Given the description of an element on the screen output the (x, y) to click on. 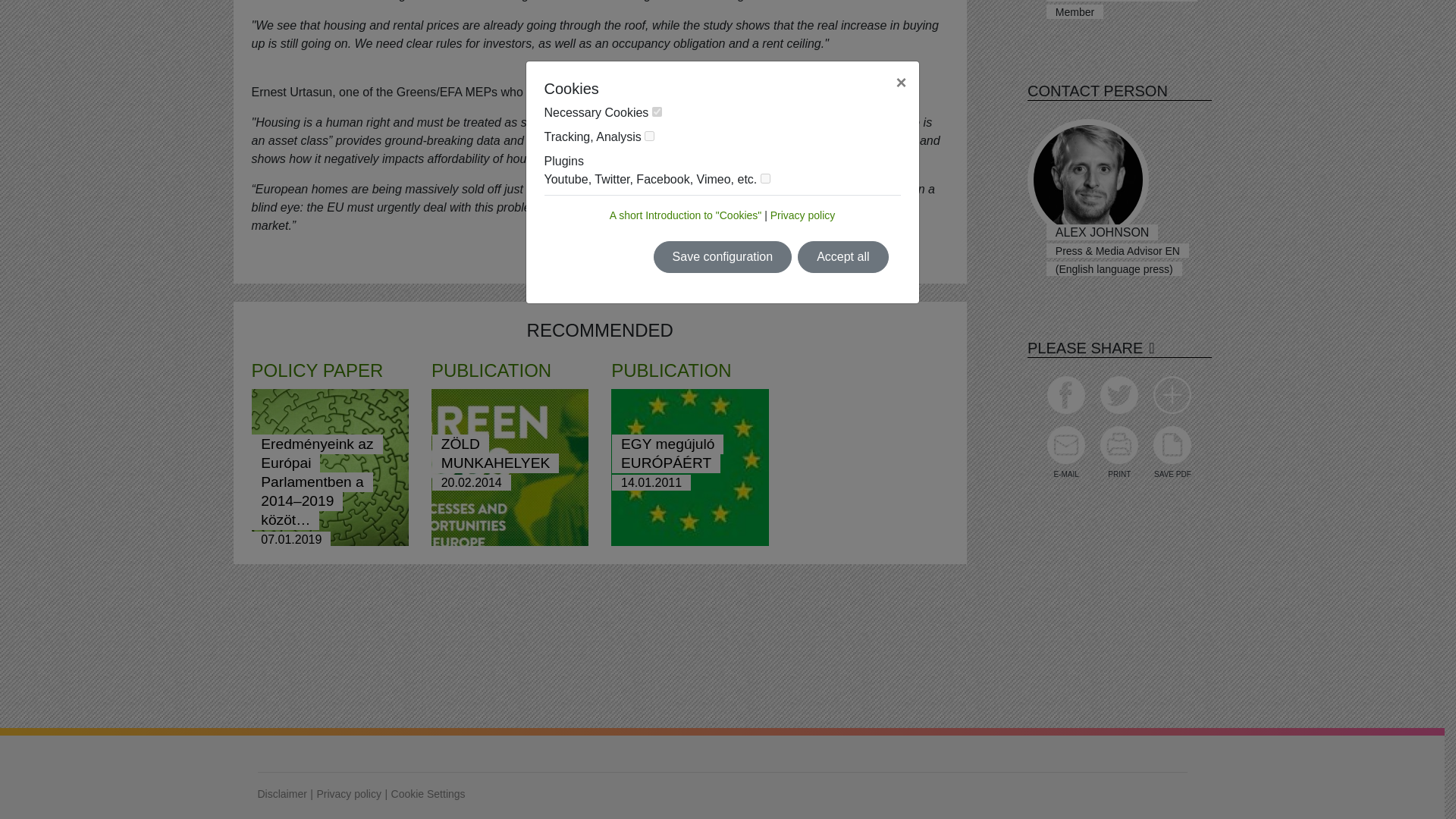
Kim Van Sparrentak (1087, 0)
